Given the description of an element on the screen output the (x, y) to click on. 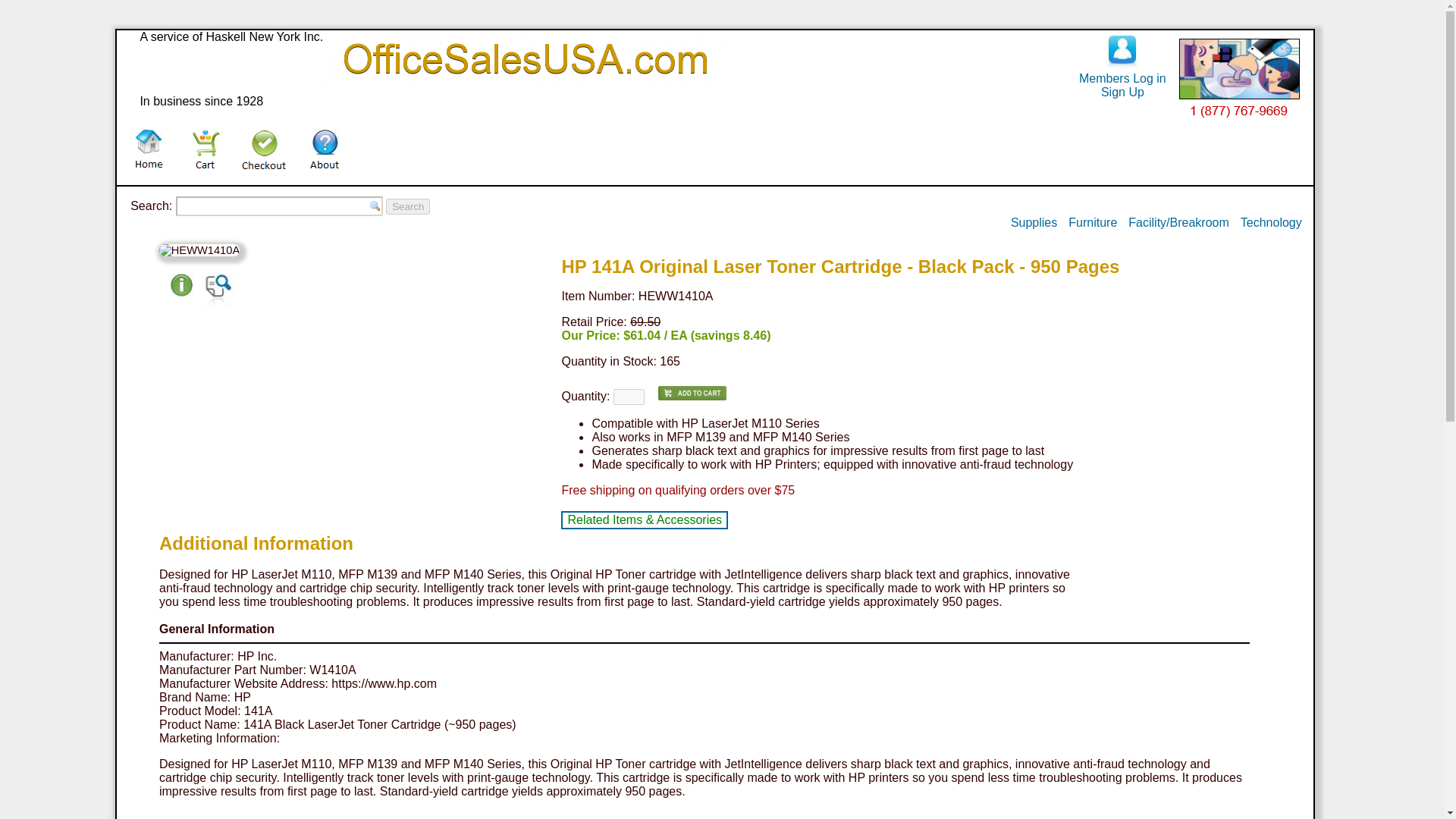
Furniture (1092, 223)
Technology (1270, 223)
Sign Up (1122, 92)
Supplies (1033, 223)
Technology (1270, 223)
Search (407, 206)
Sign Up (1122, 92)
Search (407, 206)
Members Log in (1122, 78)
Furniture (1092, 223)
